Given the description of an element on the screen output the (x, y) to click on. 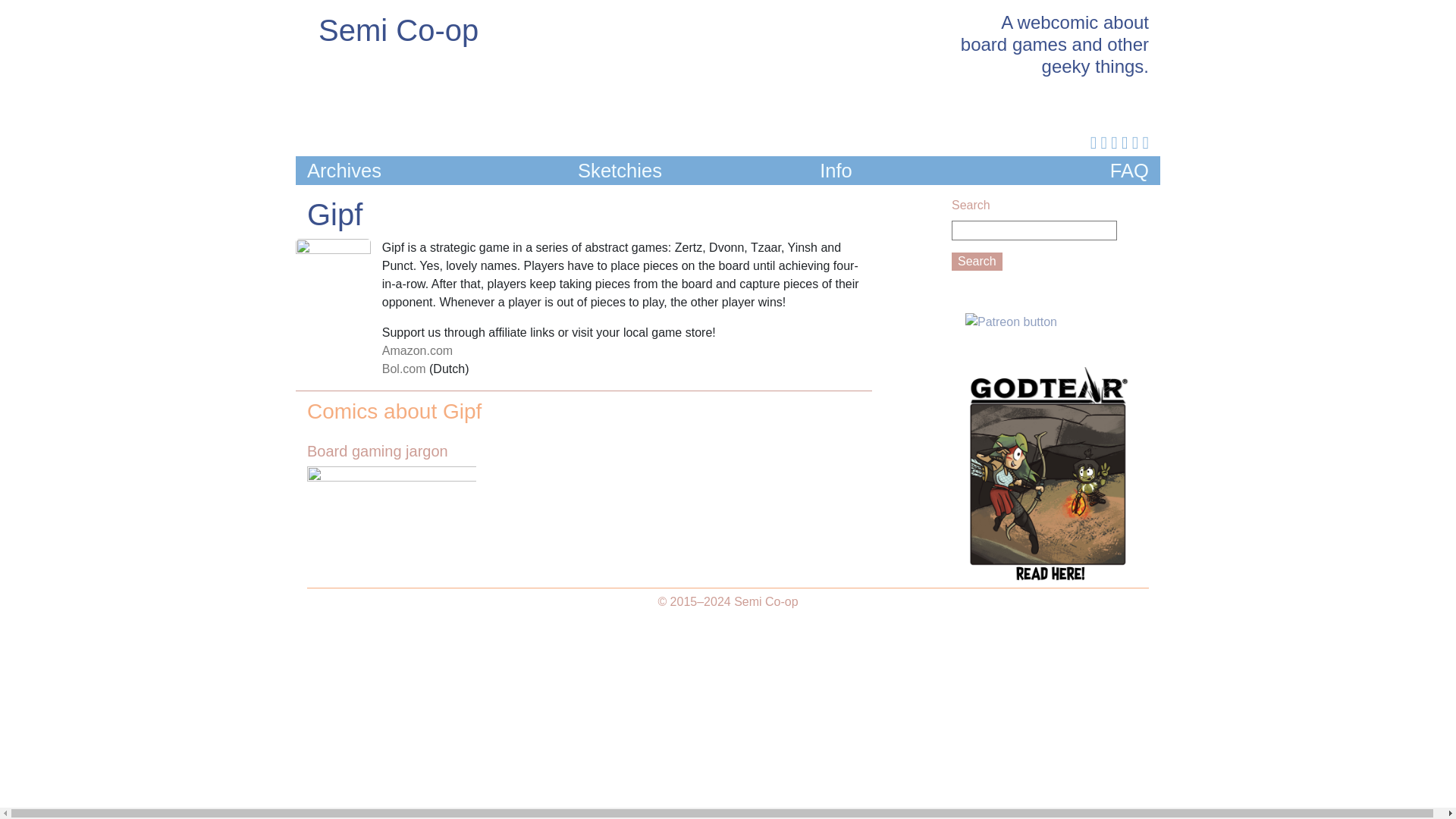
FAQ (1128, 169)
Archives (344, 169)
Semi Co-op (398, 29)
Sketchies (620, 169)
Amazon.com (416, 350)
Search (977, 261)
Bol.com (403, 368)
Info (835, 169)
Board gaming jargon (391, 475)
